Given the description of an element on the screen output the (x, y) to click on. 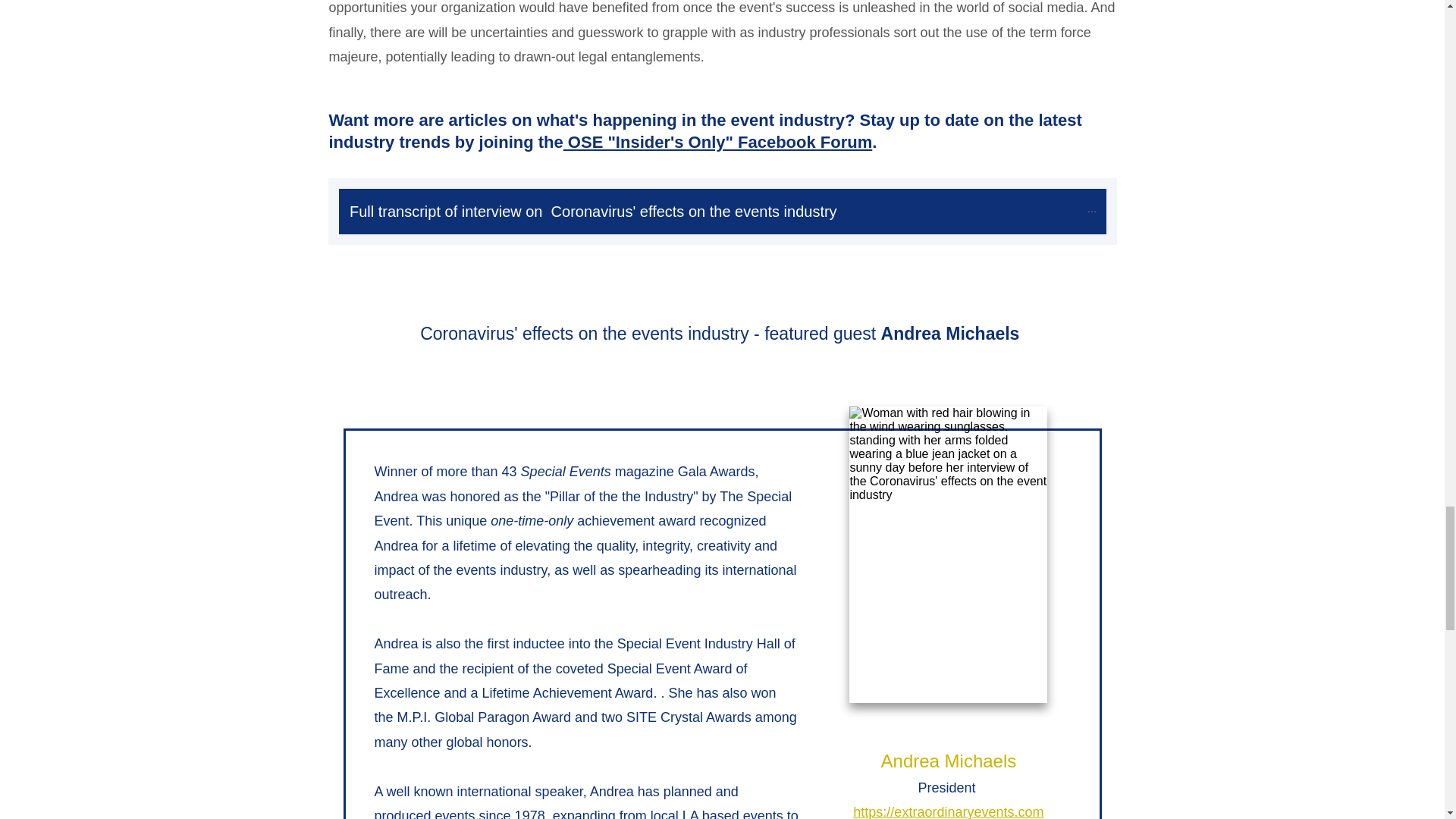
OSE "Insider's Only" Facebook Forum (717, 141)
